Given the description of an element on the screen output the (x, y) to click on. 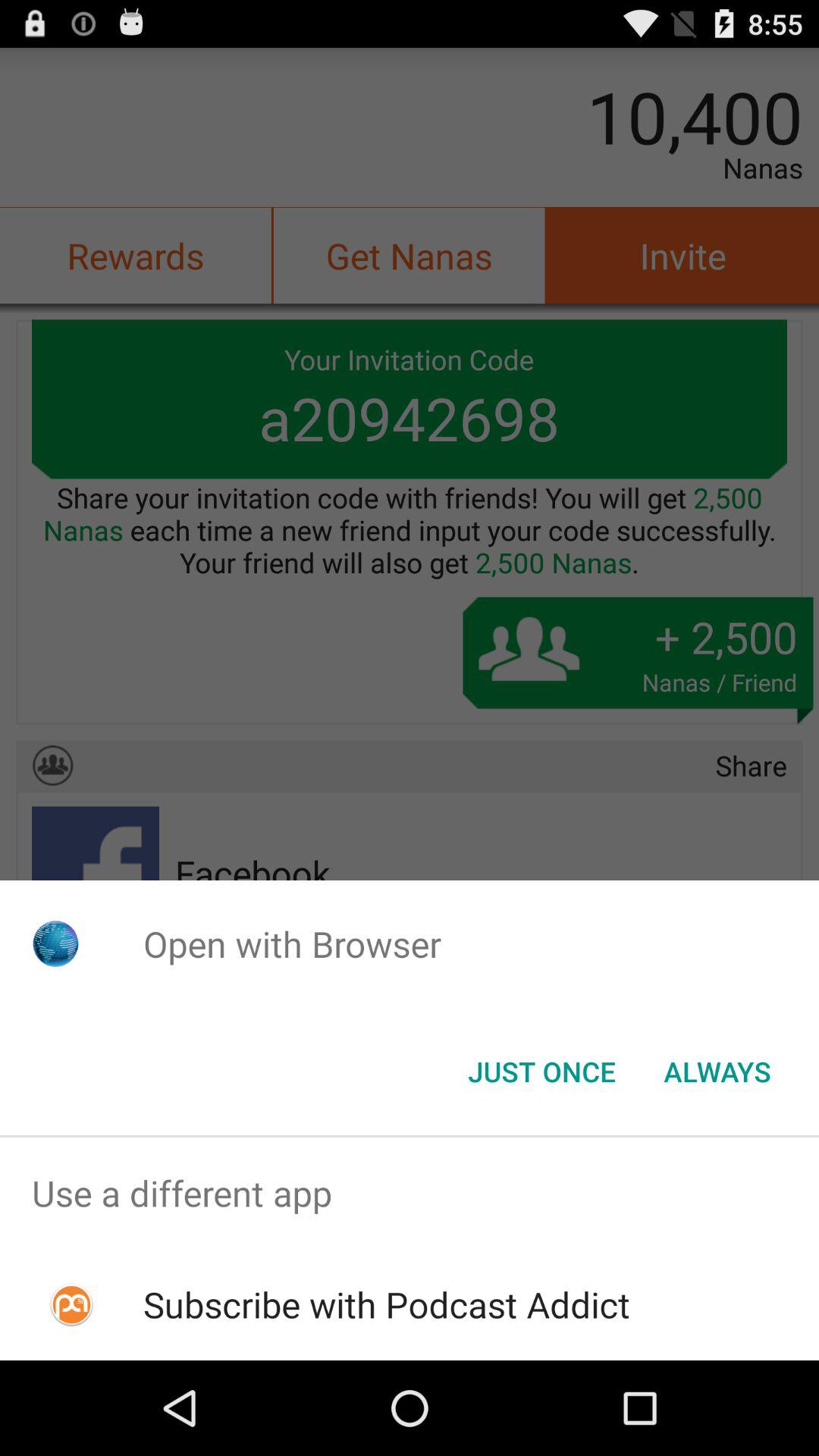
launch the just once item (541, 1071)
